Given the description of an element on the screen output the (x, y) to click on. 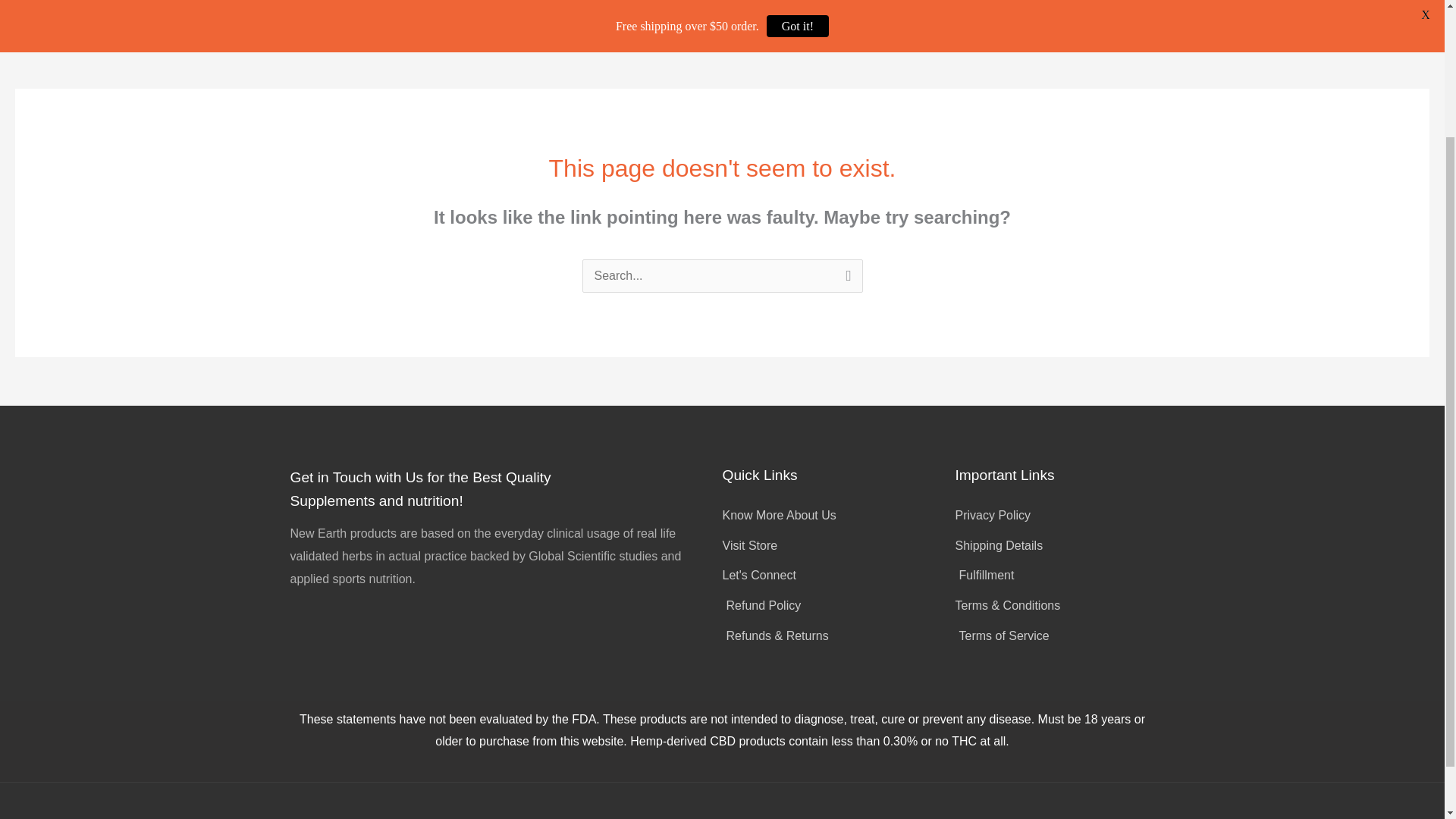
Refund Policy (838, 605)
Terms of Service (1054, 635)
Visit Store (838, 545)
Fulfillment (1054, 575)
Shipping Details (1054, 545)
Know More About Us (838, 515)
Privacy Policy (1054, 515)
Let's Connect (838, 575)
